Given the description of an element on the screen output the (x, y) to click on. 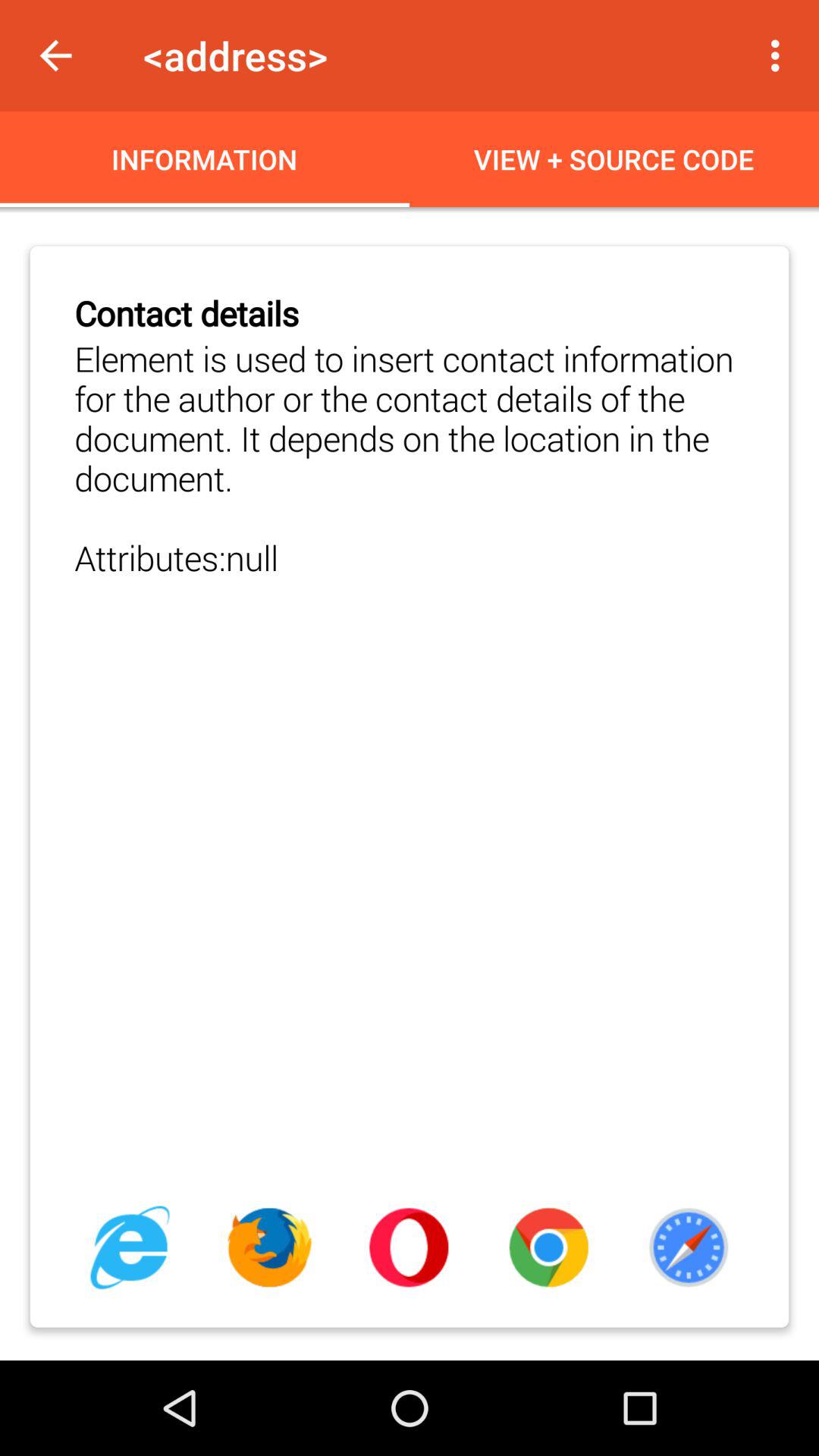
tap item above the information (55, 55)
